Given the description of an element on the screen output the (x, y) to click on. 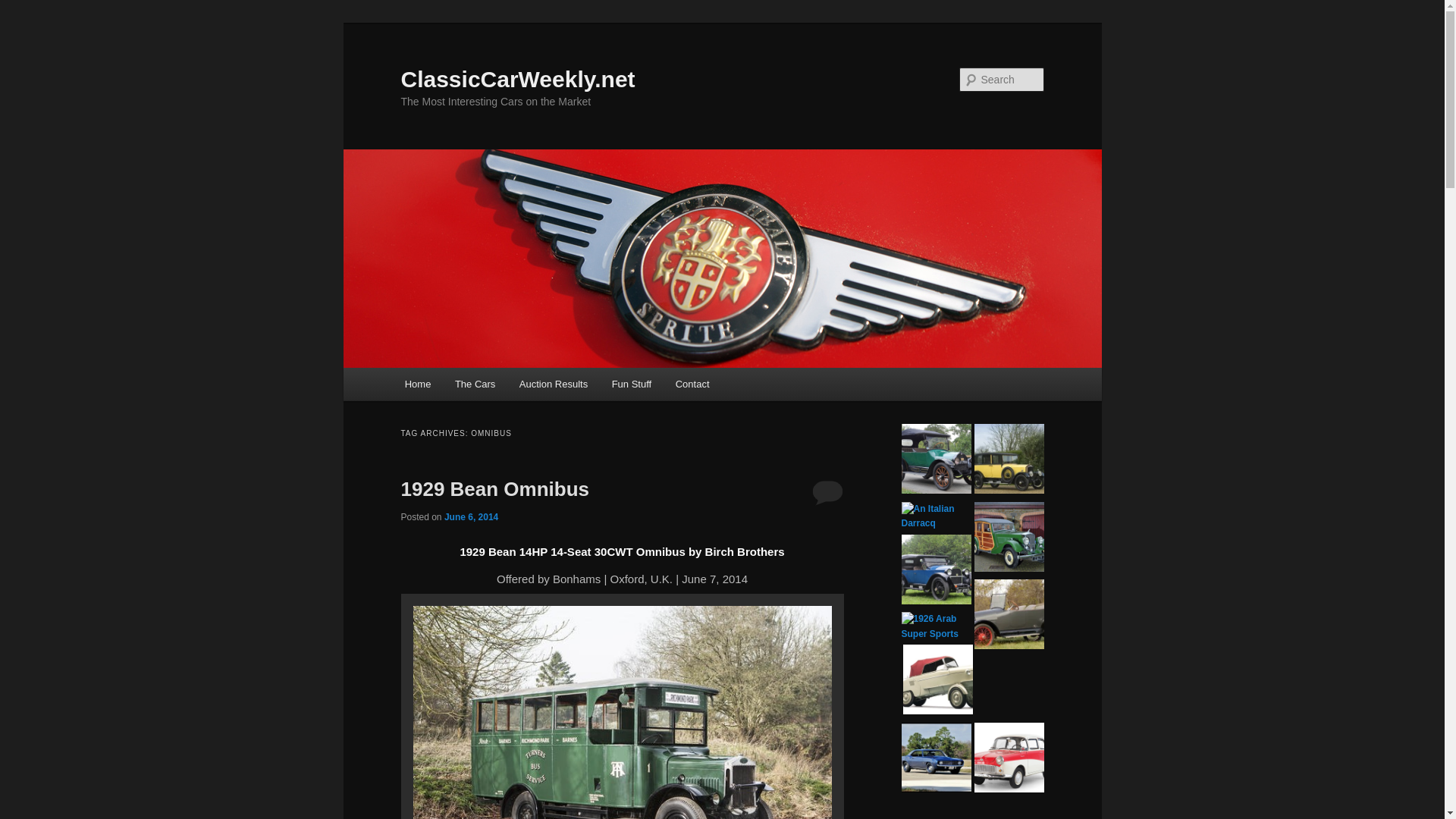
The Cars (474, 383)
Fun Stuff (631, 383)
Auction Results (552, 383)
Home (417, 383)
10:36 am (470, 516)
ClassicCarWeekly.net (517, 78)
Search (24, 8)
